Given the description of an element on the screen output the (x, y) to click on. 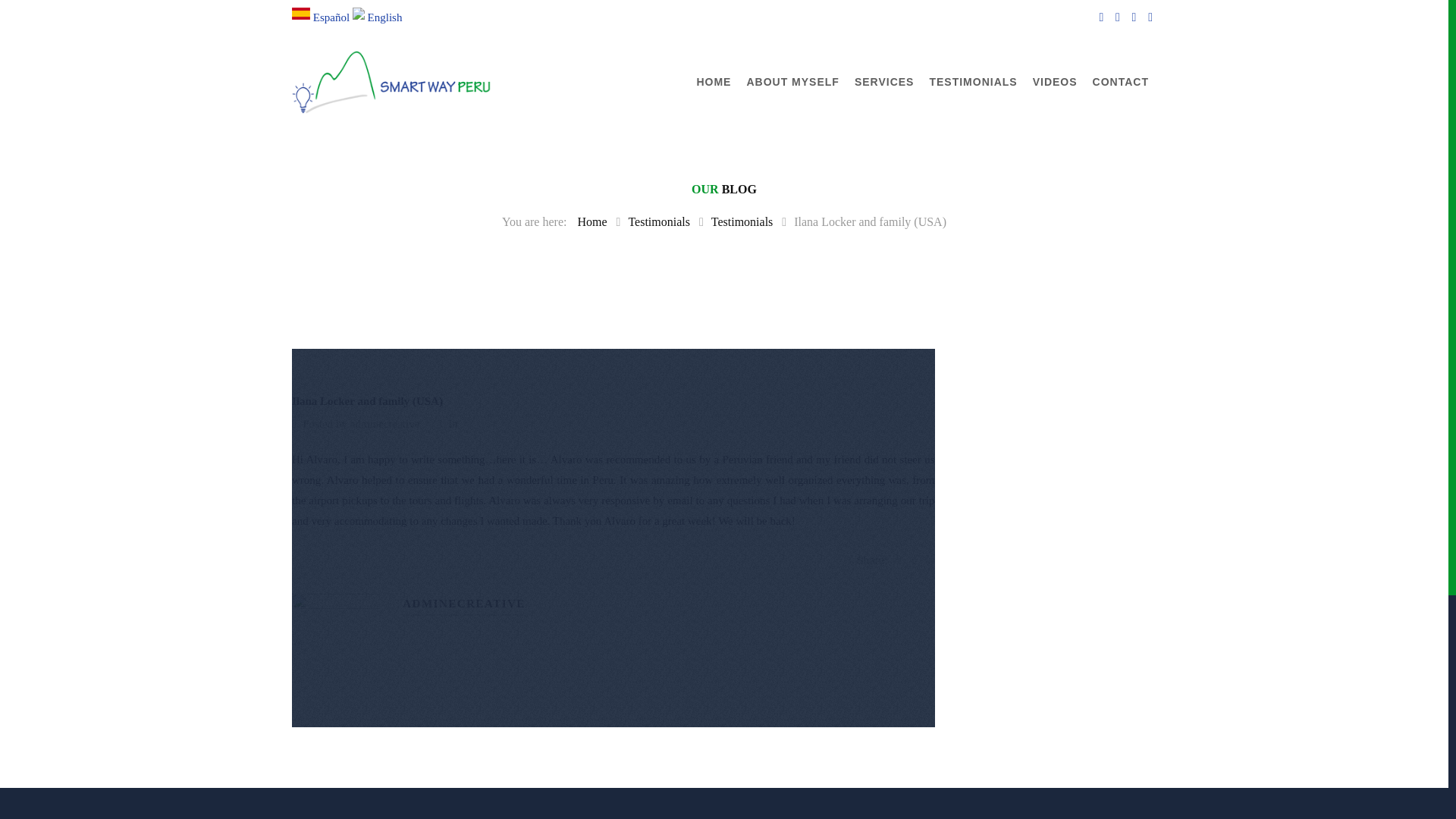
Testimonials (658, 221)
English (377, 17)
ABOUT MYSELF (791, 82)
TESTIMONIALS (972, 82)
Home (591, 221)
Testimonials (742, 221)
